Given the description of an element on the screen output the (x, y) to click on. 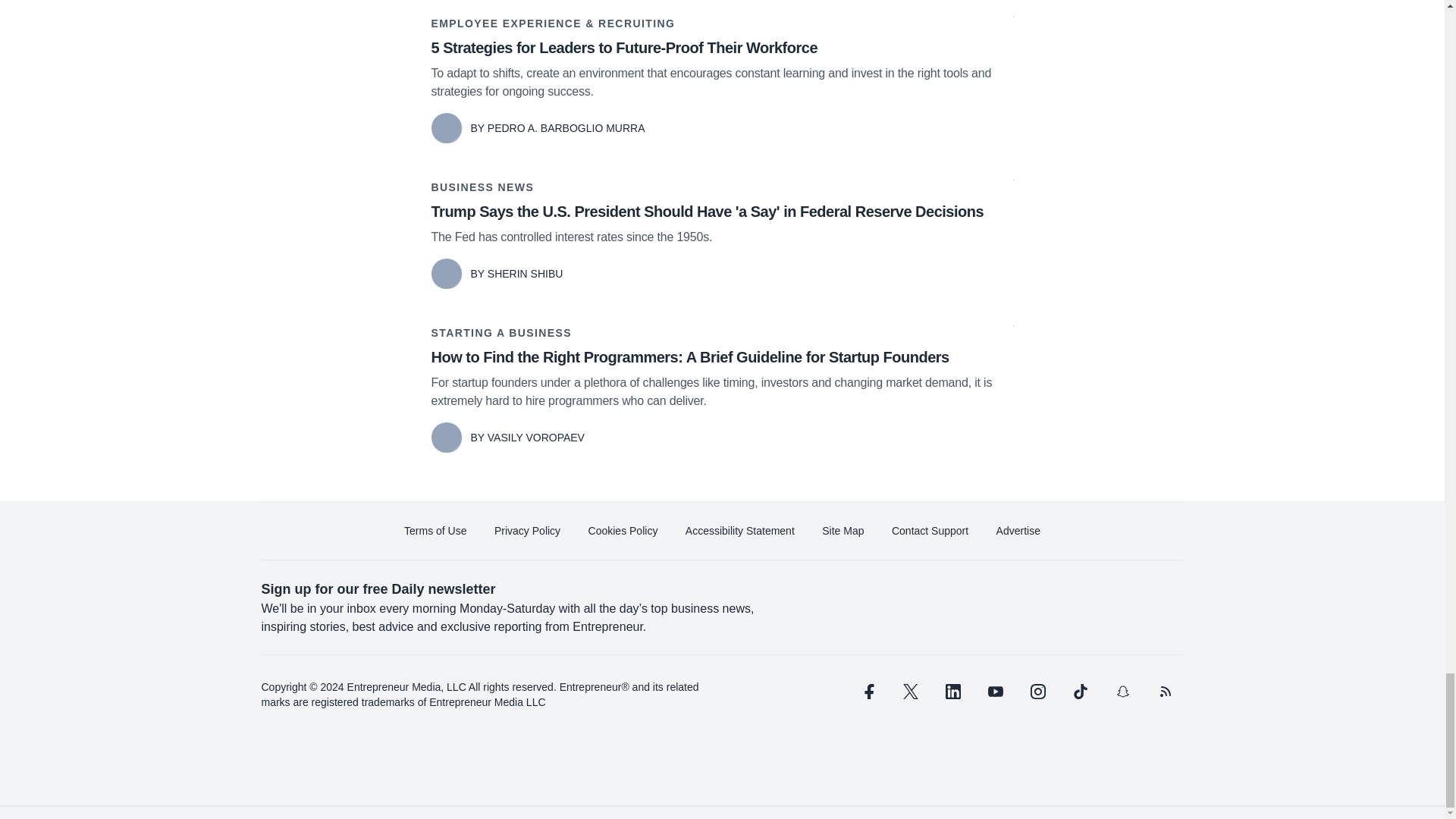
facebook (866, 691)
youtube (994, 691)
snapchat (1121, 691)
linkedin (952, 691)
tiktok (1079, 691)
instagram (1037, 691)
twitter (909, 691)
